Given the description of an element on the screen output the (x, y) to click on. 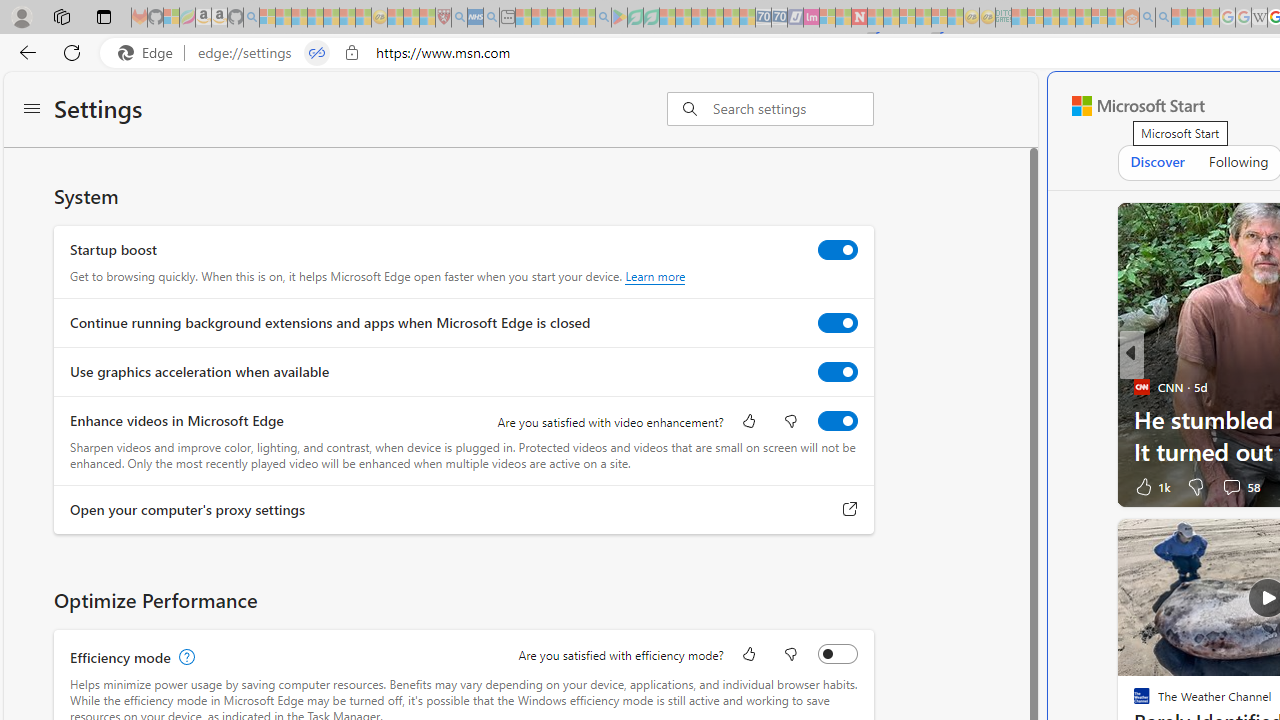
ScienceAlert (1140, 386)
Robert H. Shmerling, MD - Harvard Health - Sleeping (443, 17)
NCL Adult Asthma Inhaler Choice Guideline - Sleeping (475, 17)
Efficiency mode, learn more (184, 657)
Startup boost (837, 249)
Local - MSN - Sleeping (427, 17)
Utah sues federal government - Search - Sleeping (1163, 17)
Bluey: Let's Play! - Apps on Google Play - Sleeping (619, 17)
Settings menu (31, 110)
DITOGAMES AG Imprint - Sleeping (1003, 17)
Expert Portfolios - Sleeping (1067, 17)
